Given the description of an element on the screen output the (x, y) to click on. 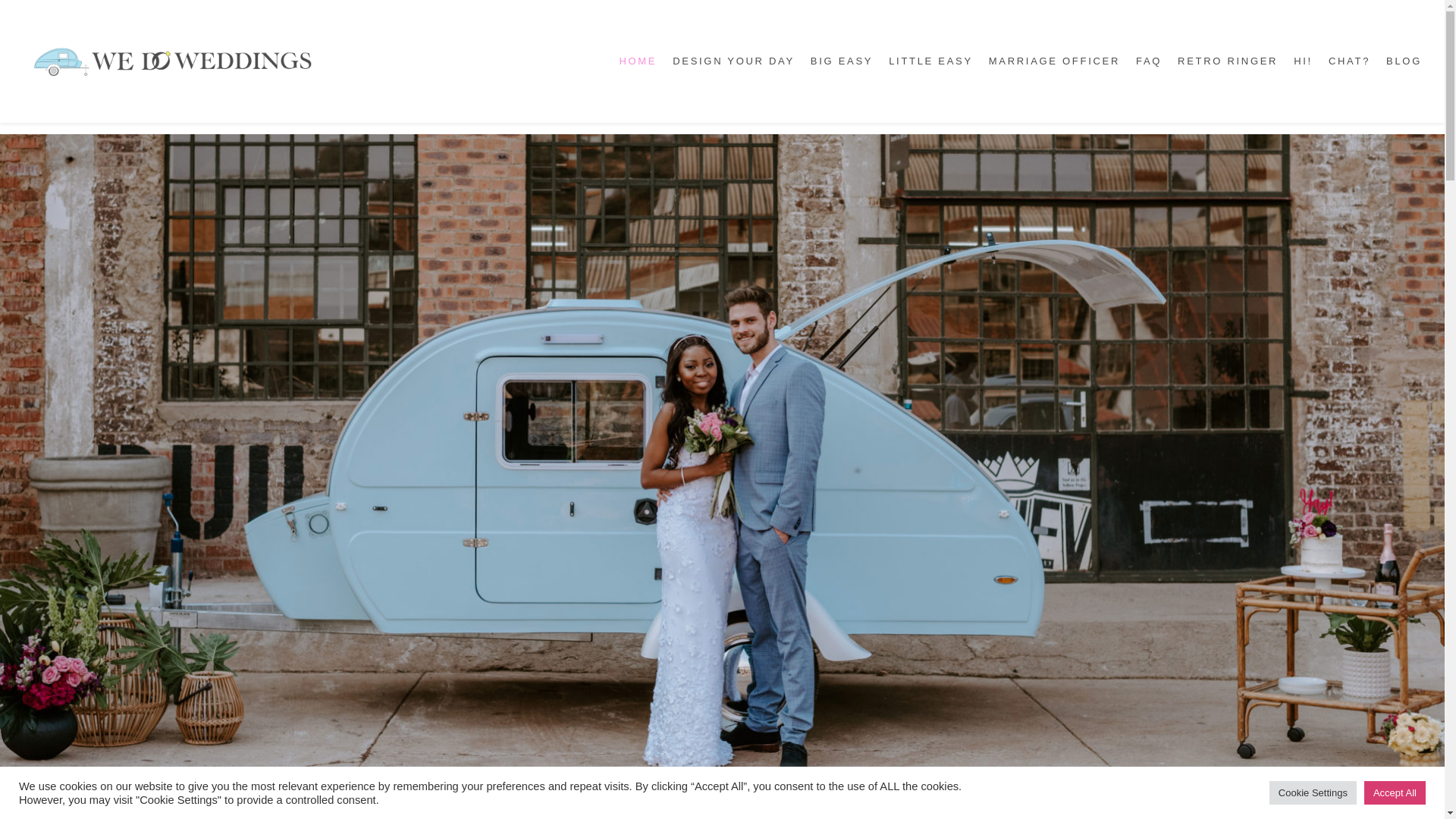
FAQ (1148, 61)
HI! (1302, 61)
RETRO RINGER (1227, 61)
MARRIAGE OFFICER (1053, 61)
BLOG (1403, 61)
HOME (637, 61)
LITTLE EASY (929, 61)
CHAT? (1348, 61)
DESIGN YOUR DAY (733, 61)
BIG EASY (841, 61)
